Given the description of an element on the screen output the (x, y) to click on. 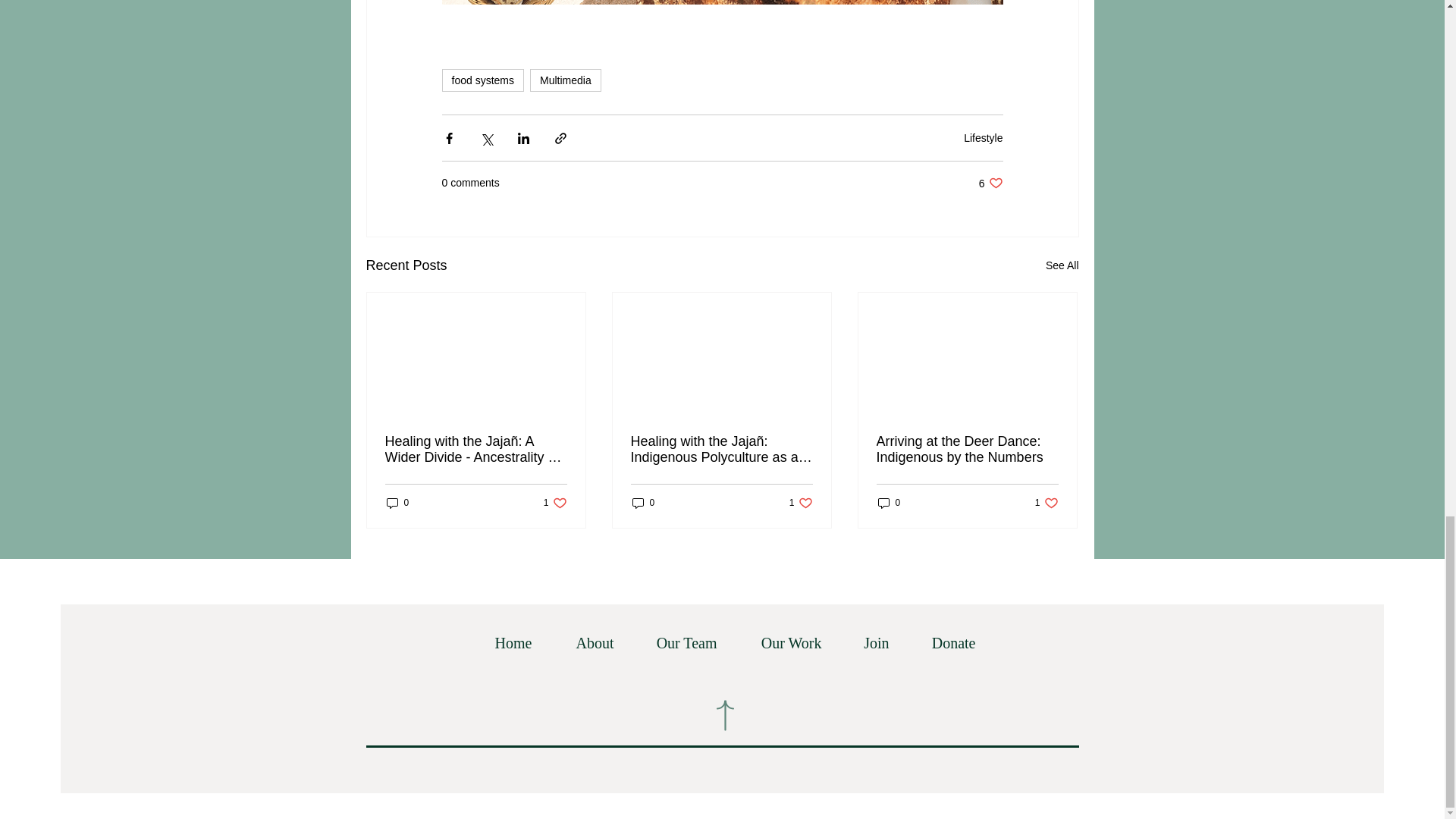
Home (503, 643)
food systems (481, 79)
Multimedia (565, 79)
Our Team (676, 643)
See All (1061, 265)
0 (643, 503)
0 (889, 503)
Lifestyle (983, 137)
About (990, 183)
0 (583, 643)
Arriving at the Deer Dance: Indigenous by the Numbers (397, 503)
